Given the description of an element on the screen output the (x, y) to click on. 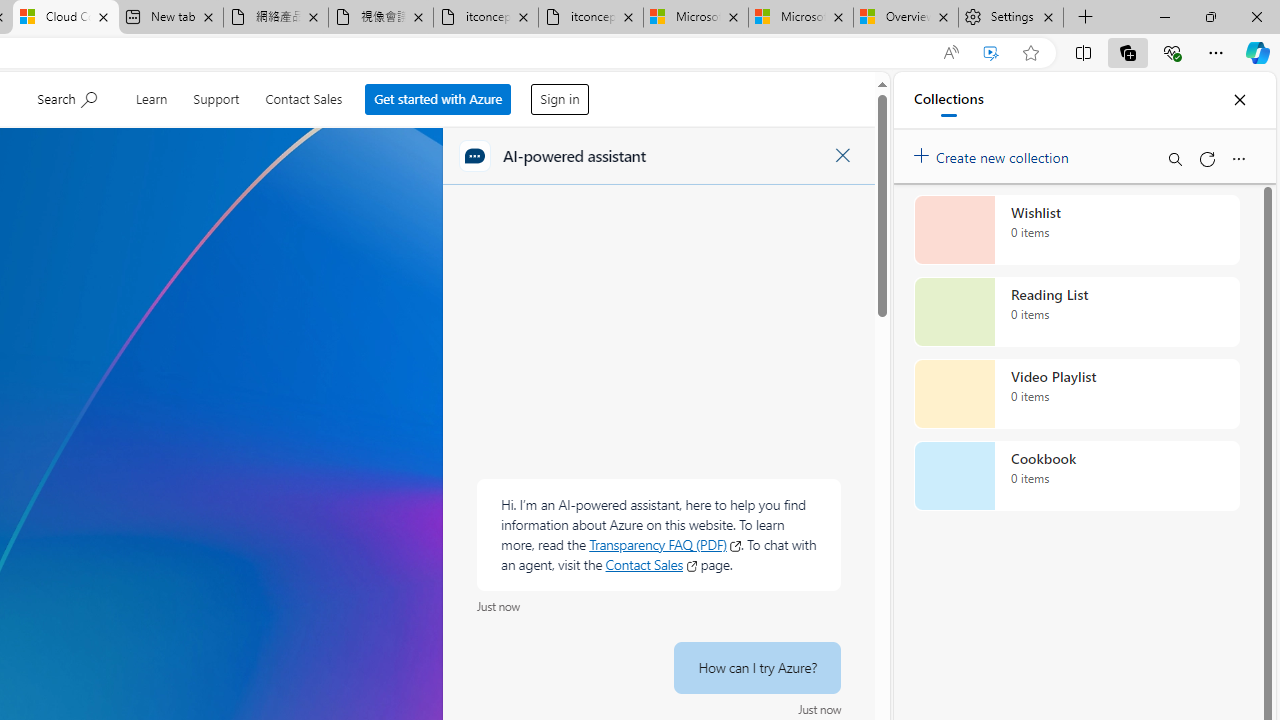
Transparency FAQ (PDF) Opens in a new window; external. (664, 544)
itconcepthk.com/projector_solutions.mp4 (590, 17)
Contact Sales (303, 96)
Video Playlist collection, 0 items (1076, 394)
Show search input (67, 97)
Wishlist collection, 0 items (1076, 229)
Cloud Computing Services | Microsoft Azure (65, 17)
Close Dialog (842, 155)
Support (216, 96)
